Given the description of an element on the screen output the (x, y) to click on. 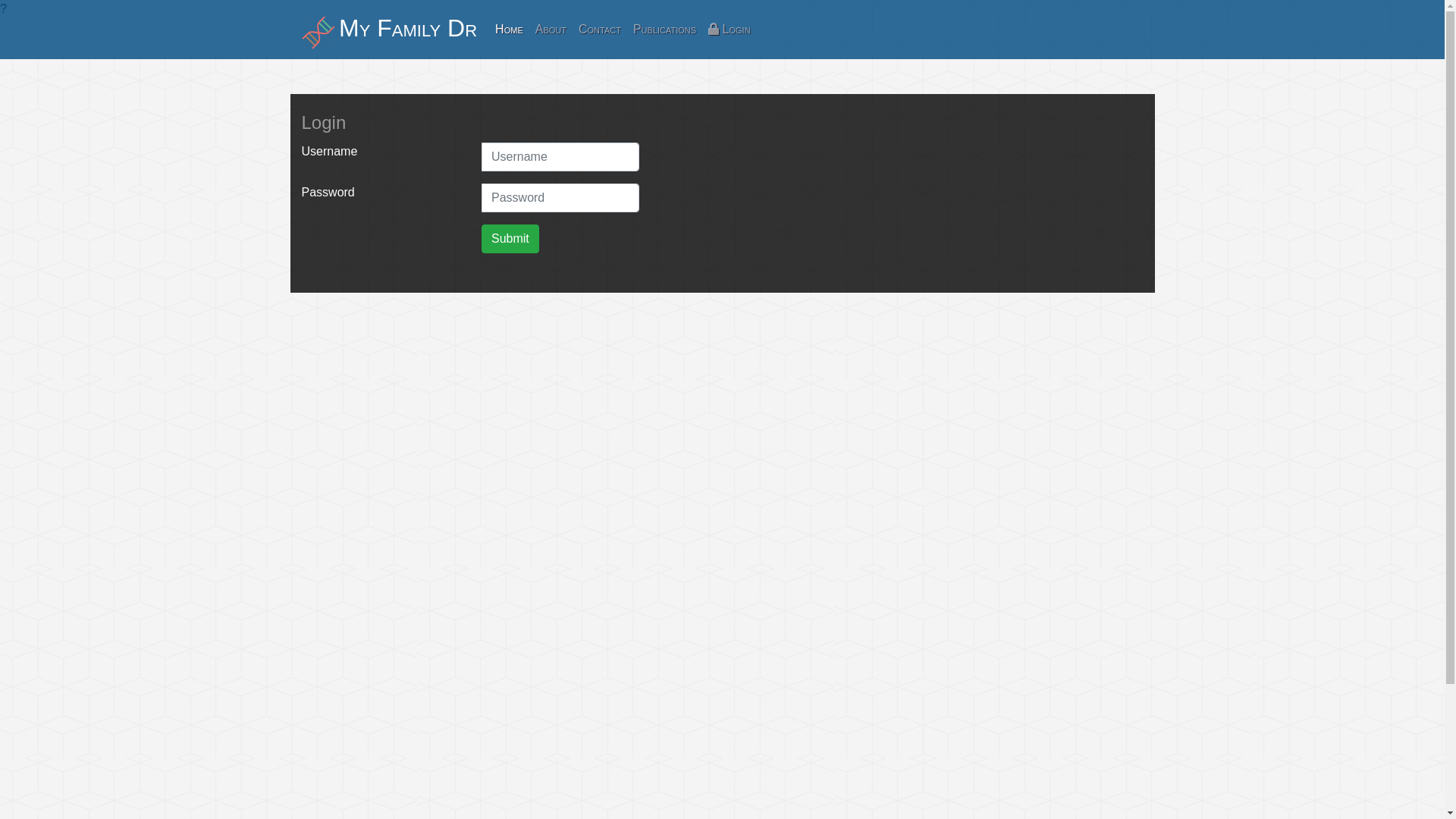
 Login Element type: text (729, 29)
Contact Element type: text (599, 29)
Submit Element type: text (510, 238)
Home Element type: text (509, 29)
Publications Element type: text (664, 29)
My Family Dr Element type: text (389, 29)
About Element type: text (550, 29)
